Given the description of an element on the screen output the (x, y) to click on. 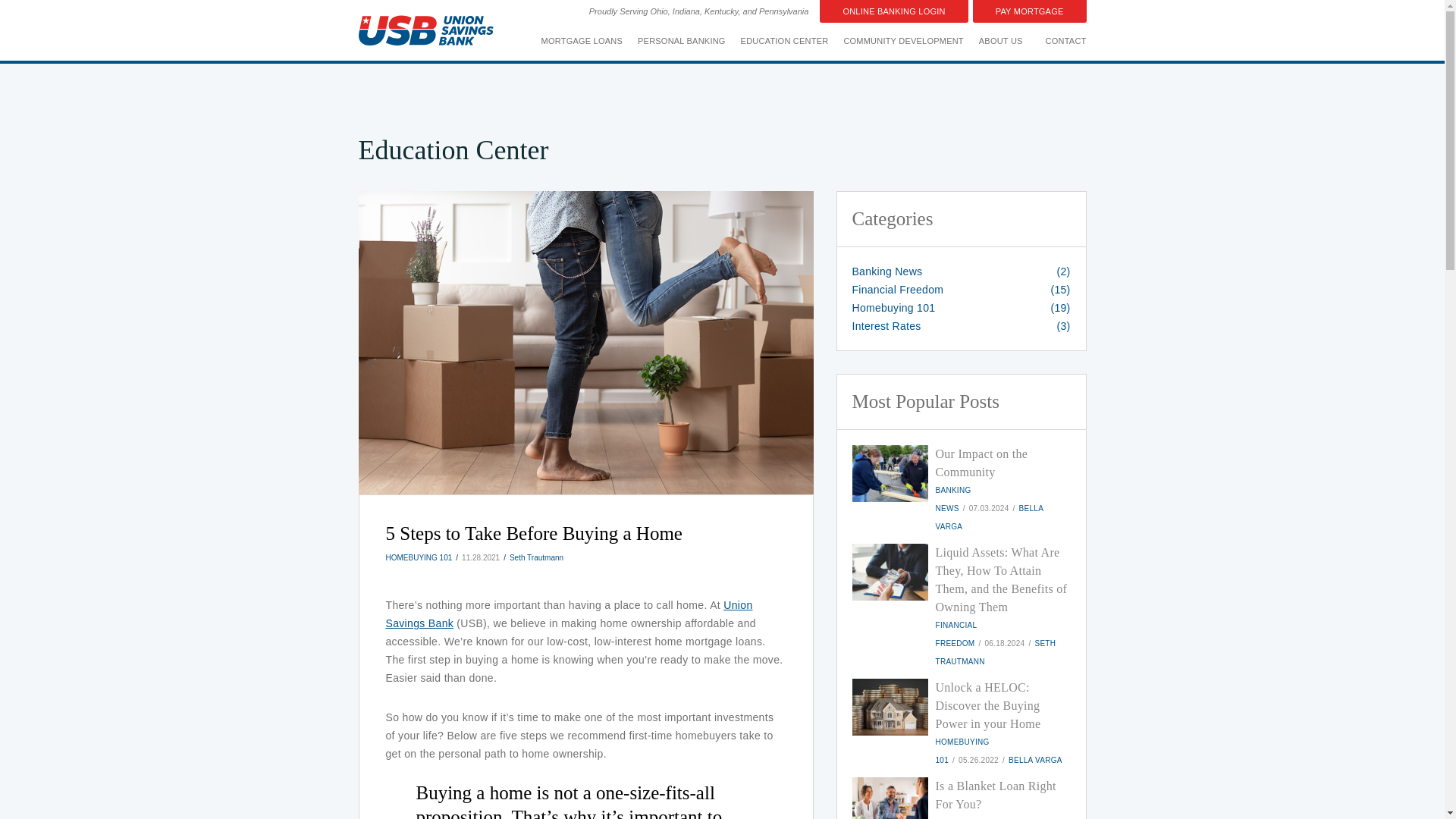
MORTGAGE LOANS (582, 40)
HOMEBUYING 101 (418, 557)
Union Savings Bank (568, 613)
PAY MORTGAGE (1029, 11)
COMMUNITY DEVELOPMENT (903, 40)
ONLINE BANKING LOGIN (893, 11)
EDUCATION CENTER (784, 40)
PERSONAL BANKING (681, 40)
ABOUT US (1000, 40)
CONTACT (1058, 40)
